Given the description of an element on the screen output the (x, y) to click on. 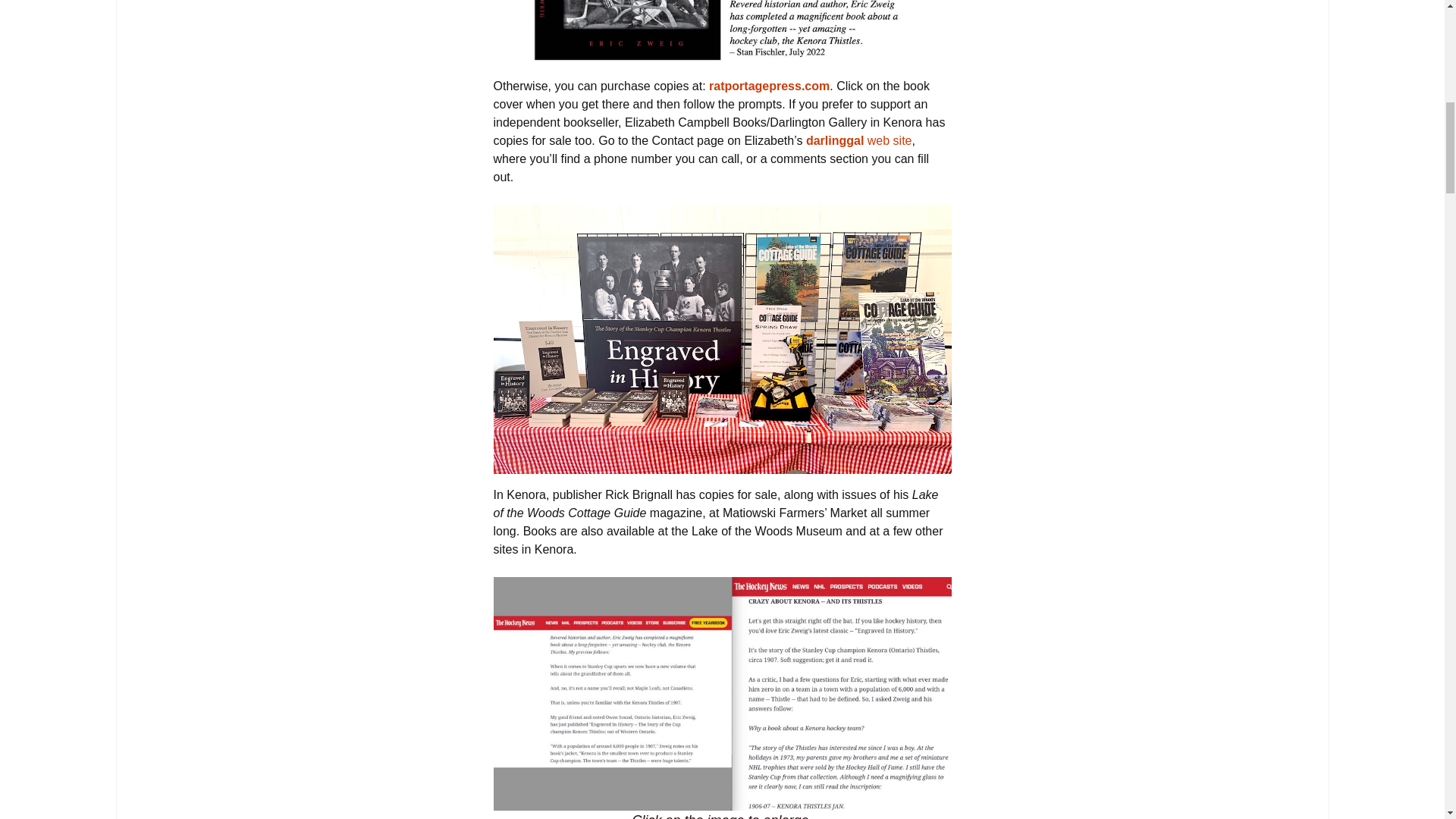
darlinggal web site (859, 140)
ratportagepress.com (769, 85)
